Given the description of an element on the screen output the (x, y) to click on. 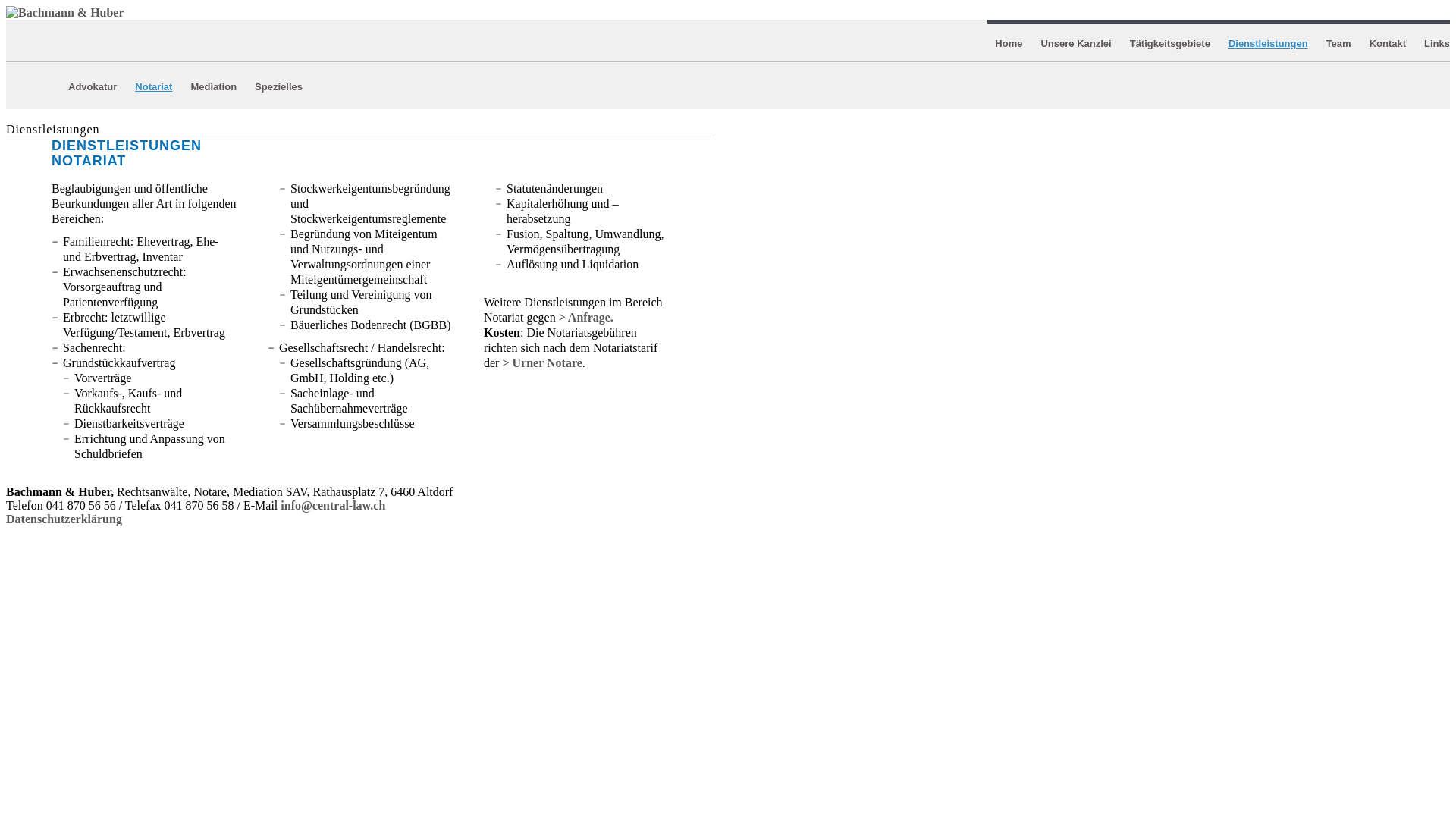
Team Element type: text (1338, 43)
> Urner Notare Element type: text (541, 362)
Advokatur Element type: text (92, 86)
Bachmann & Huber Element type: hover (65, 12)
Mediation Element type: text (213, 86)
Links Element type: text (1436, 43)
Unsere Kanzlei Element type: text (1075, 43)
Notariat Element type: text (153, 86)
> Anfrage. Element type: text (585, 316)
info@central-law.ch Element type: text (332, 504)
Spezielles Element type: text (278, 86)
Dienstleistungen Element type: text (1268, 43)
Home Element type: text (1008, 43)
Kontakt Element type: text (1387, 43)
